Given the description of an element on the screen output the (x, y) to click on. 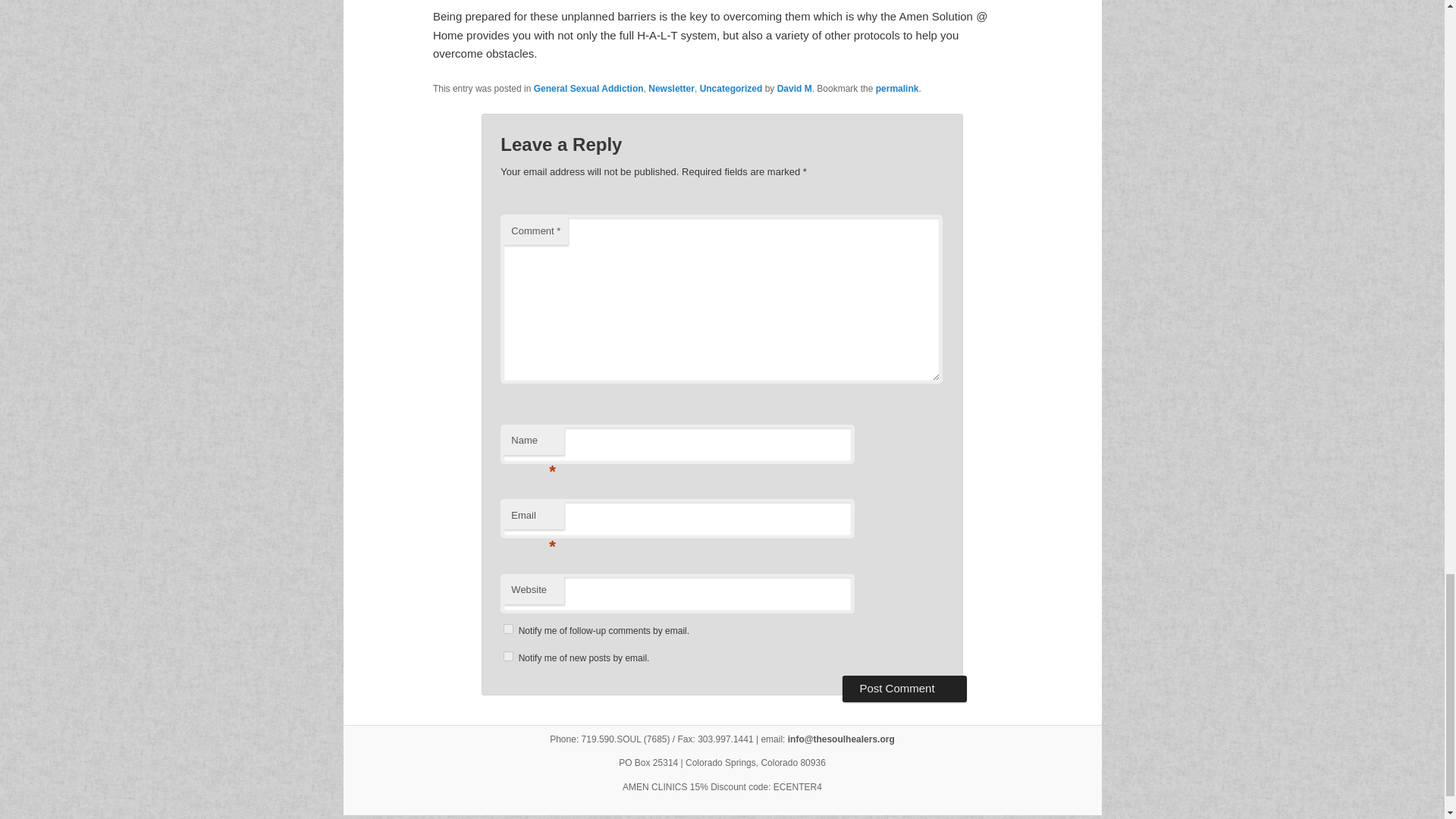
General Sexual Addiction (588, 88)
permalink (897, 88)
Uncategorized (731, 88)
Permalink to Overcome BarriersBy AmenClinics (897, 88)
Post Comment (904, 688)
subscribe (508, 628)
Newsletter (670, 88)
subscribe (508, 655)
David M (794, 88)
Post Comment (904, 688)
